Given the description of an element on the screen output the (x, y) to click on. 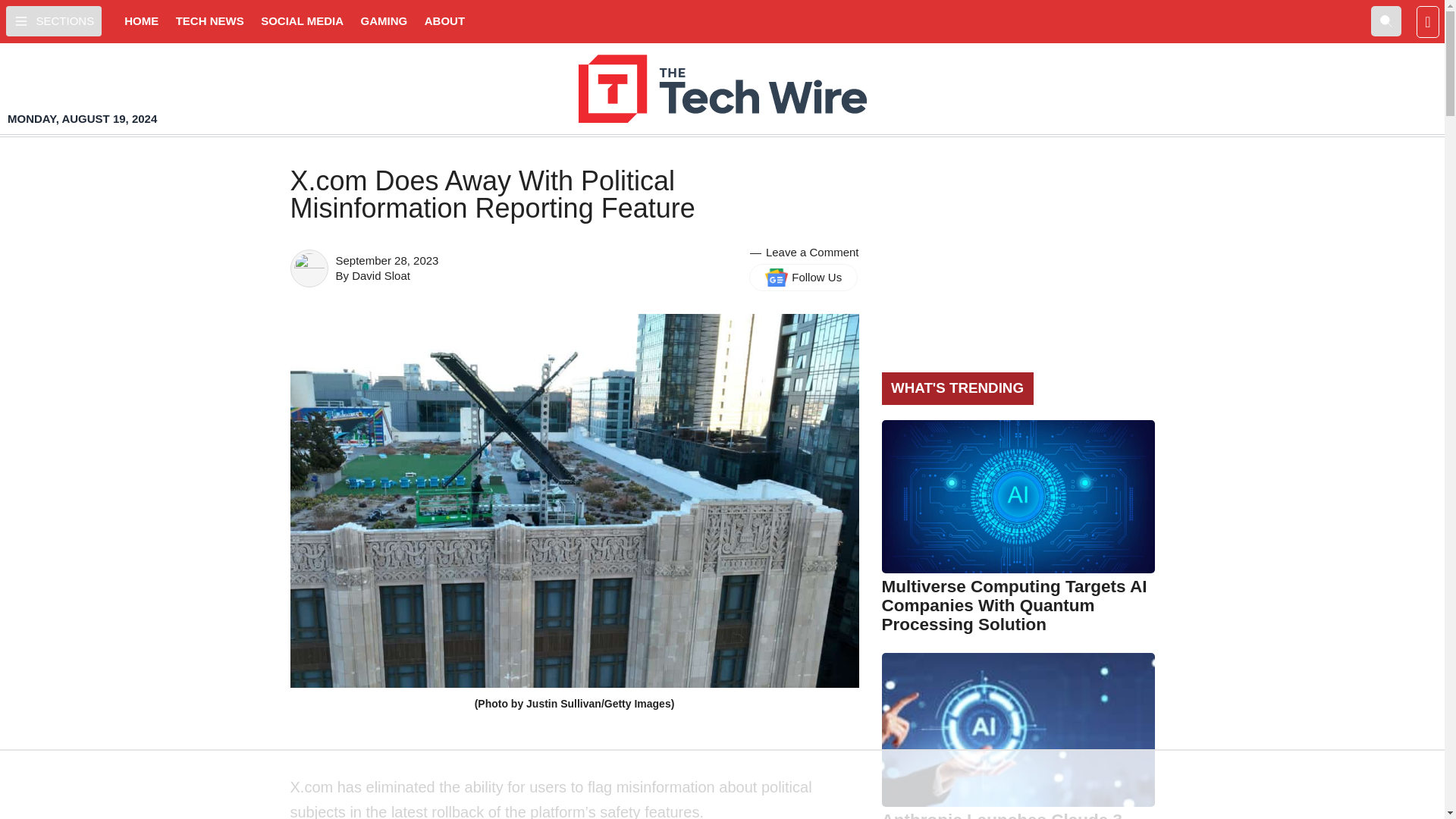
THE TECH WIRE (722, 88)
ABOUT (444, 21)
Open Menu (53, 20)
Search (1385, 20)
SECTIONS (53, 20)
TECH NEWS (210, 21)
GAMING (384, 21)
Leave a Comment (812, 251)
HOME (140, 21)
